Given the description of an element on the screen output the (x, y) to click on. 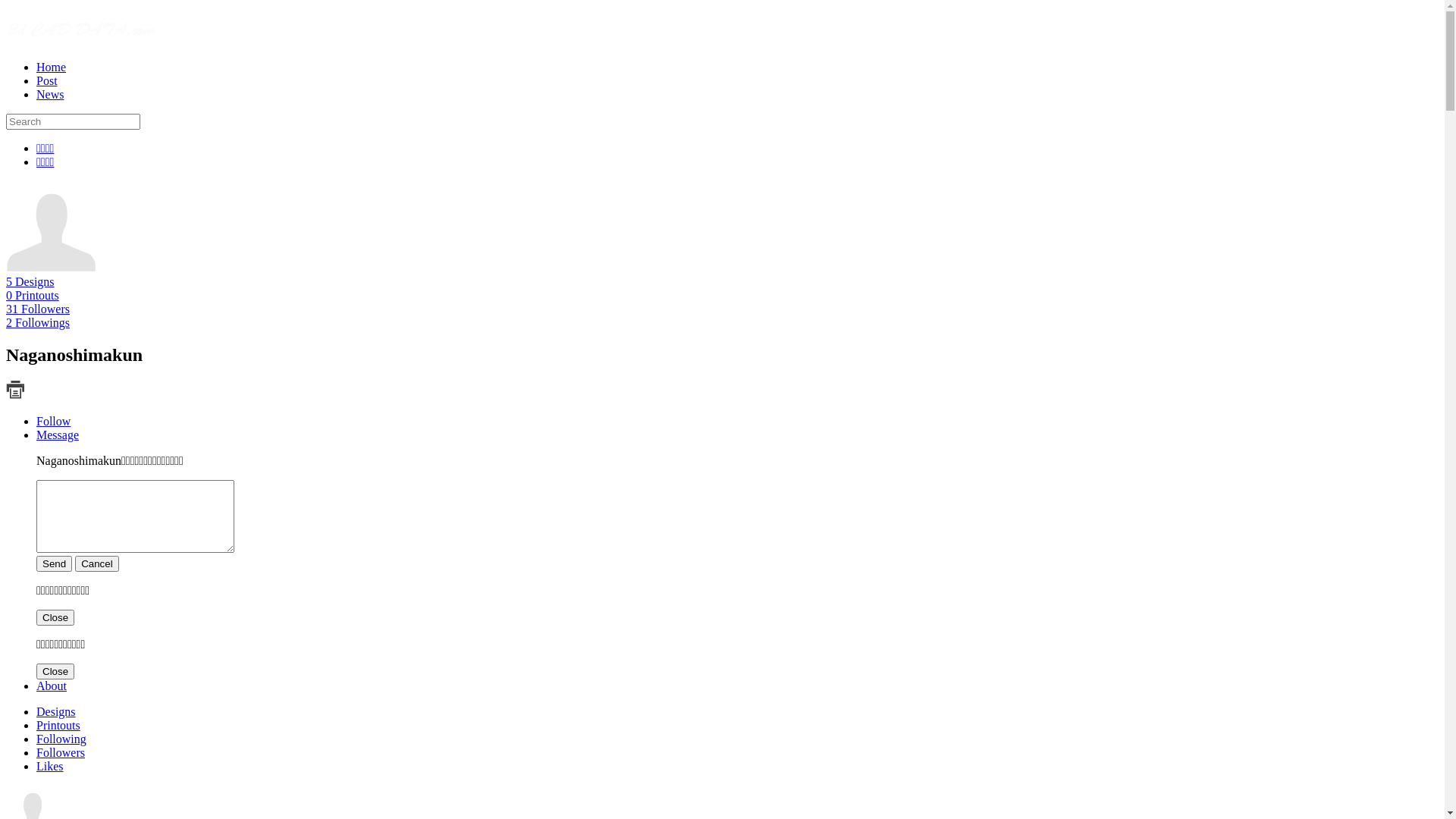
Post Element type: text (46, 80)
0 Printouts Element type: text (32, 294)
Following Element type: text (61, 738)
Close Element type: text (55, 617)
2 Followings Element type: text (37, 322)
About Element type: text (51, 685)
Followers Element type: text (60, 752)
Printouts Element type: text (58, 724)
Follow Element type: text (53, 420)
Close Element type: text (55, 671)
Cancel Element type: text (97, 563)
Home Element type: text (50, 66)
5 Designs Element type: text (30, 281)
Send Element type: text (54, 563)
Likes Element type: text (49, 765)
News Element type: text (49, 93)
Designs Element type: text (55, 711)
Message Element type: text (57, 434)
31 Followers Element type: text (37, 308)
